Given the description of an element on the screen output the (x, y) to click on. 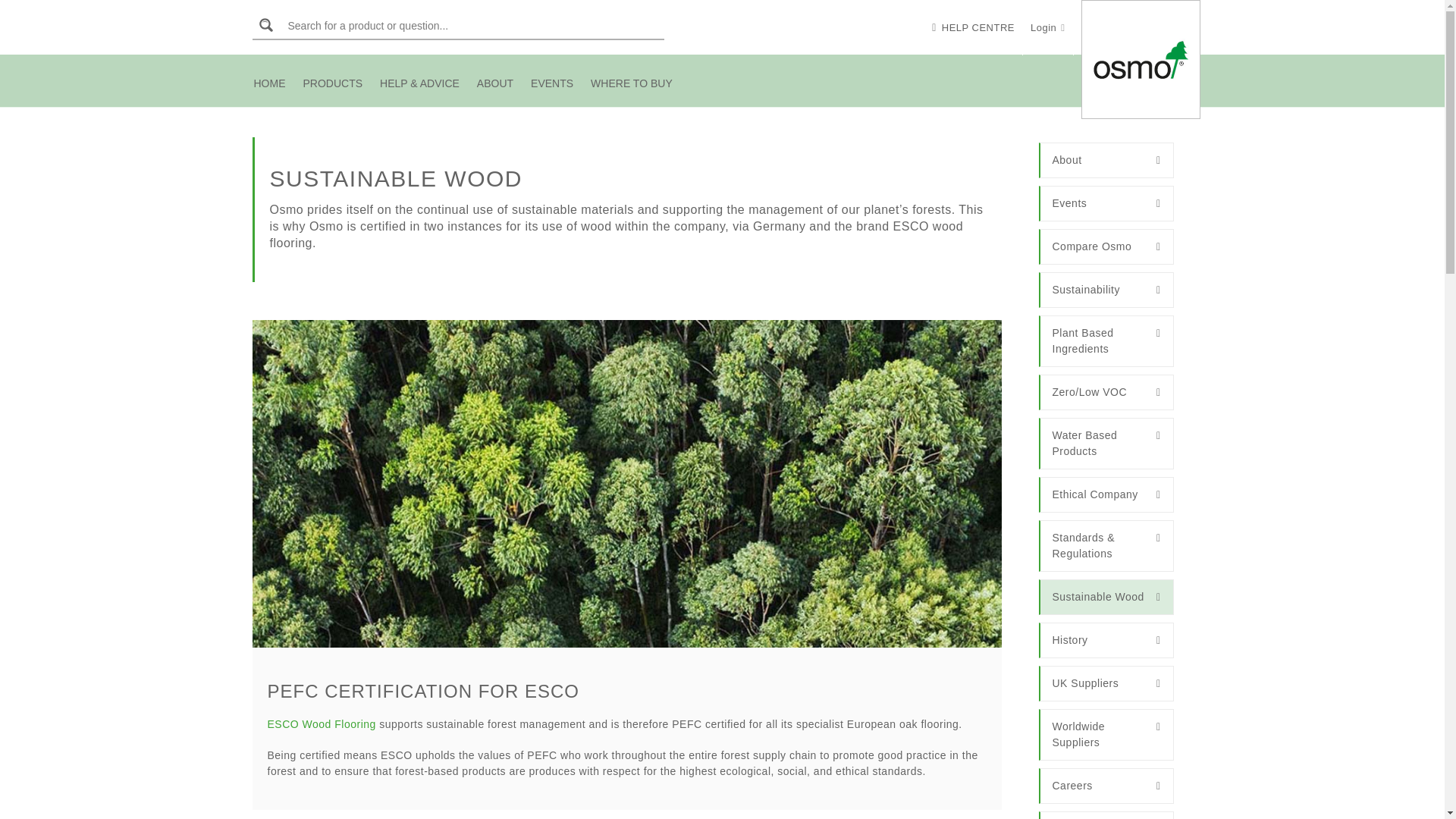
HELP CENTRE (972, 26)
